Given the description of an element on the screen output the (x, y) to click on. 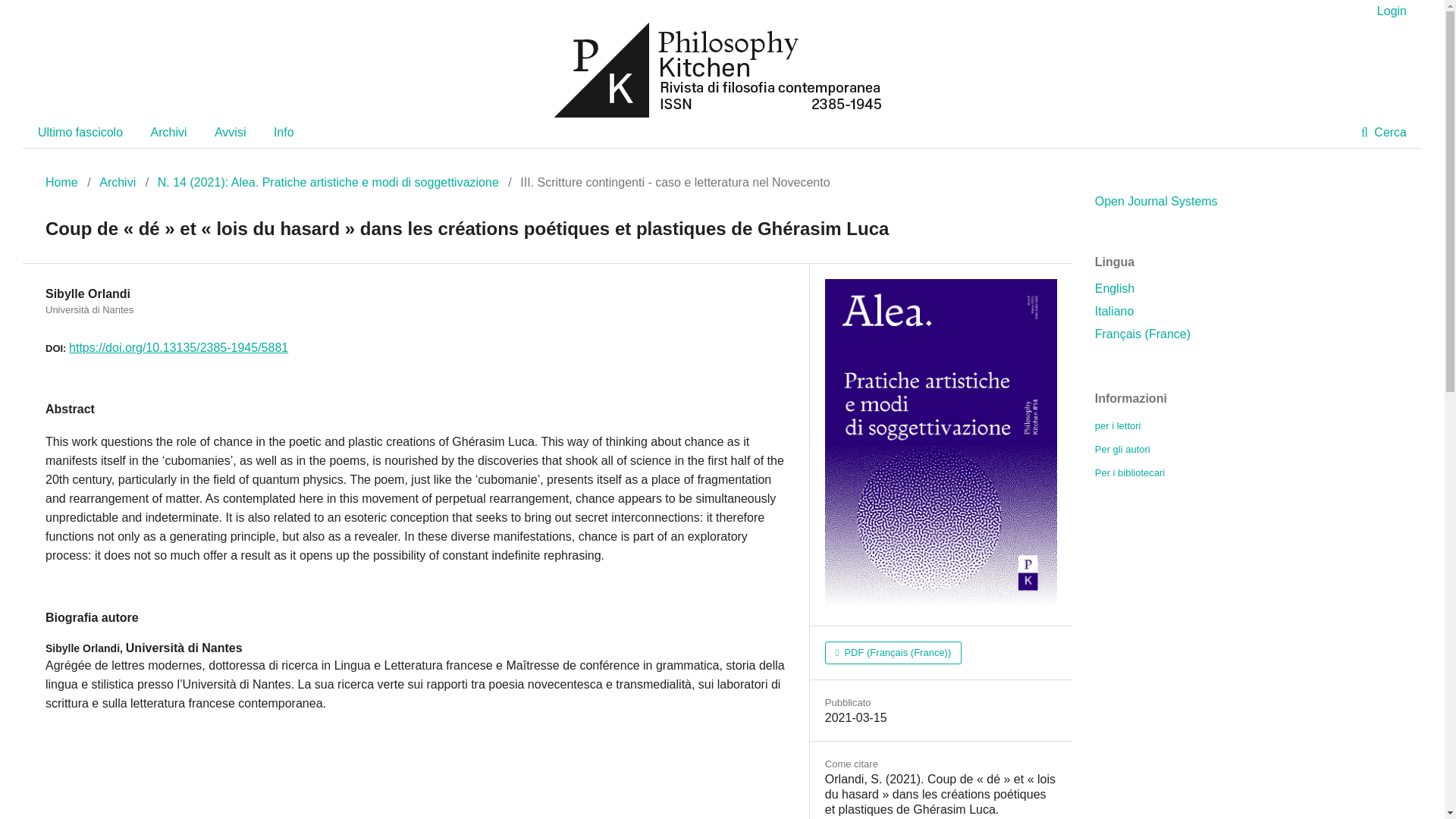
Login (1388, 11)
English (1114, 287)
Archivi (117, 182)
Ultimo fascicolo (79, 132)
Avvisi (230, 132)
Open Journal Systems (1155, 201)
Cerca (1383, 132)
Home (61, 182)
Archivi (167, 132)
